Given the description of an element on the screen output the (x, y) to click on. 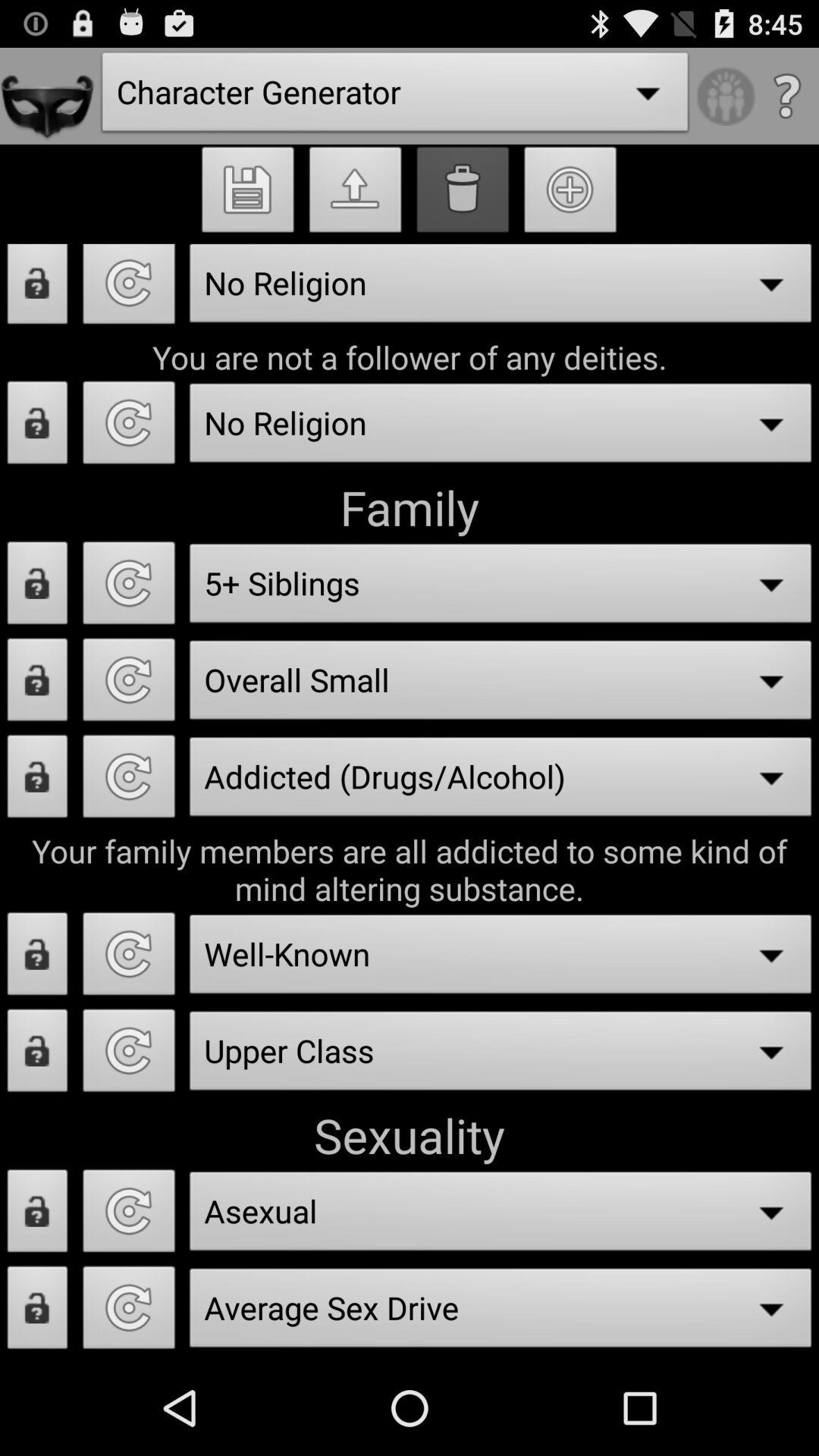
lock family size option (37, 683)
